Given the description of an element on the screen output the (x, y) to click on. 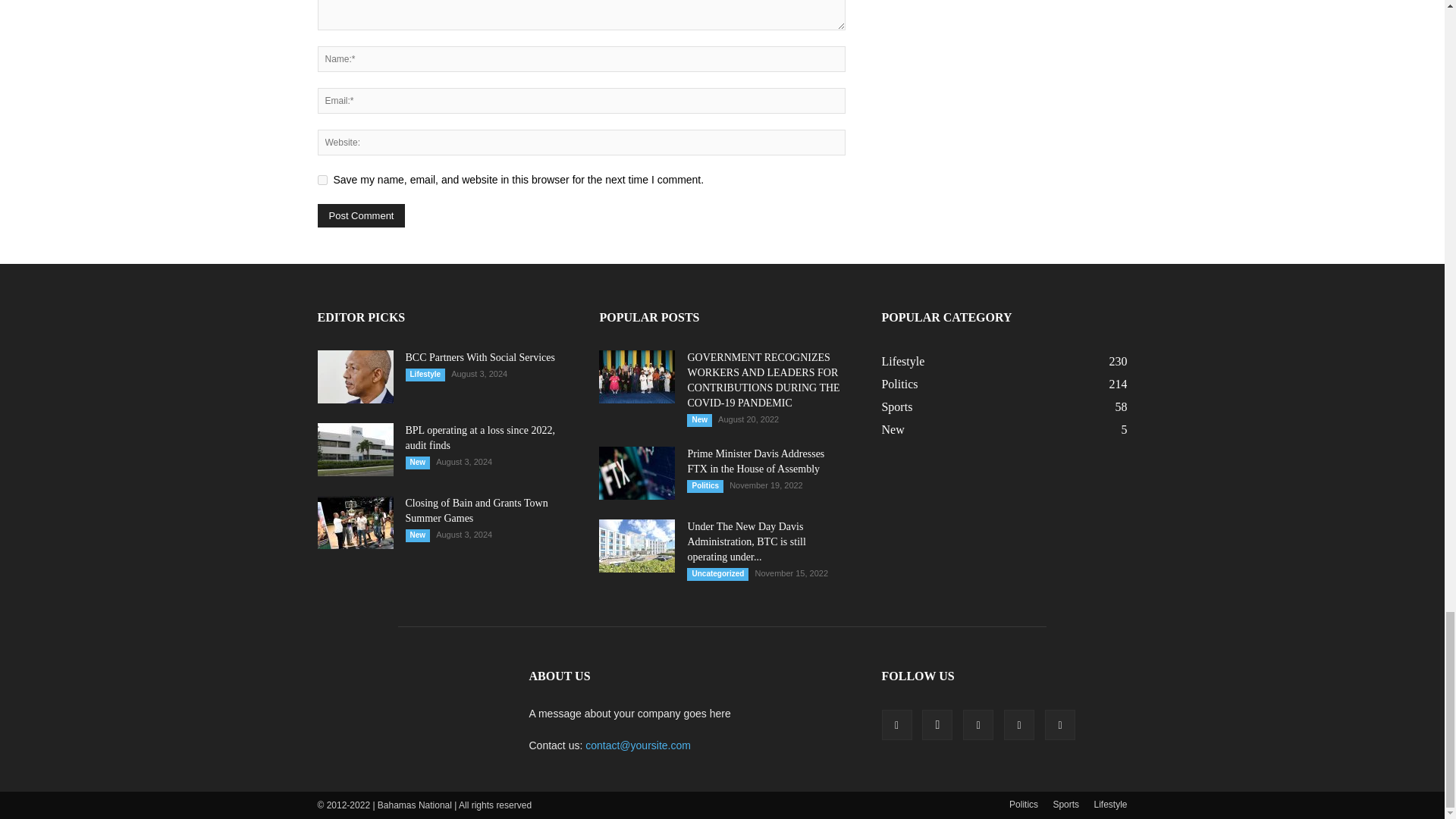
Post Comment (360, 215)
yes (321, 180)
